Given the description of an element on the screen output the (x, y) to click on. 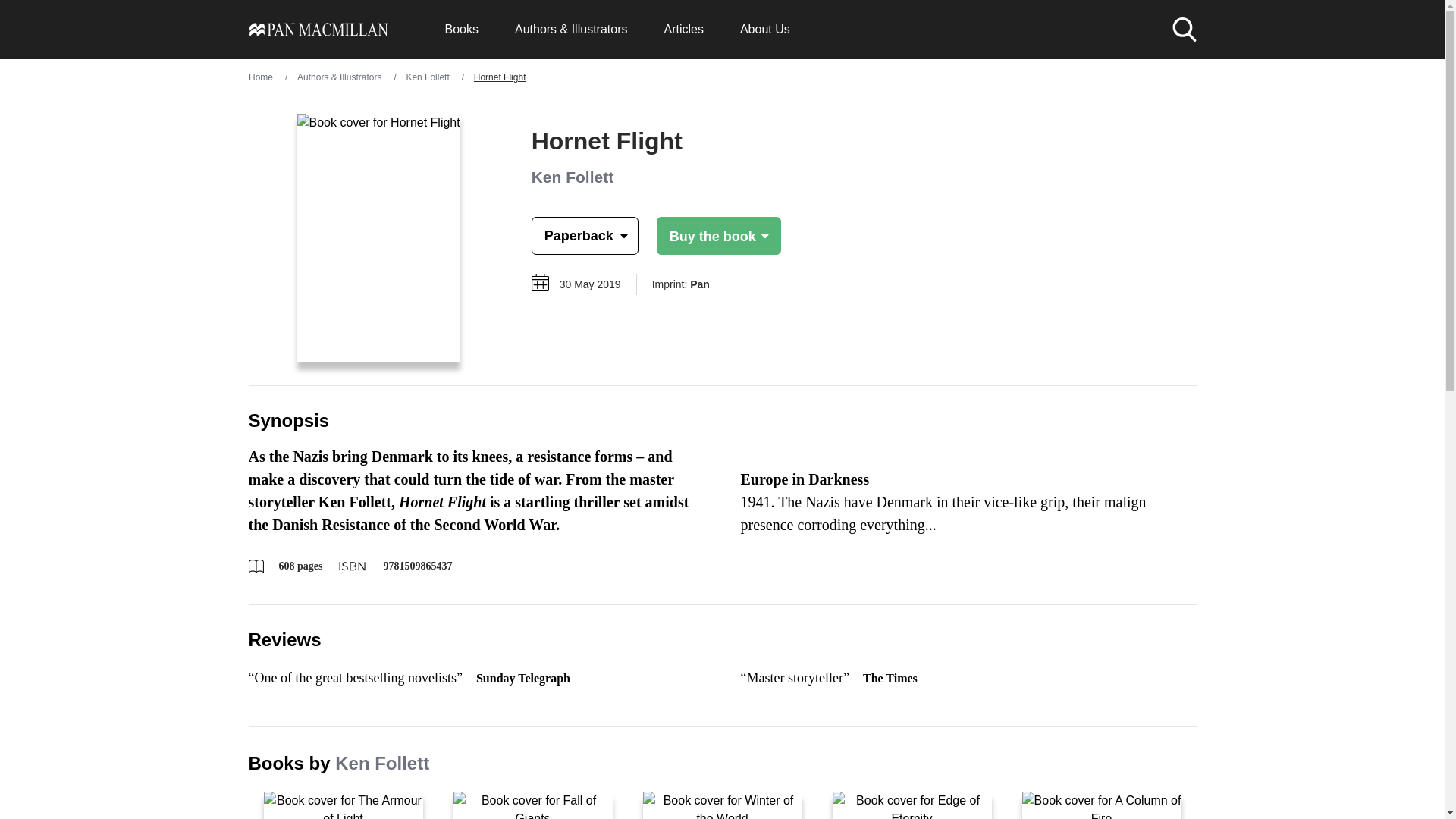
Books (460, 29)
